Given the description of an element on the screen output the (x, y) to click on. 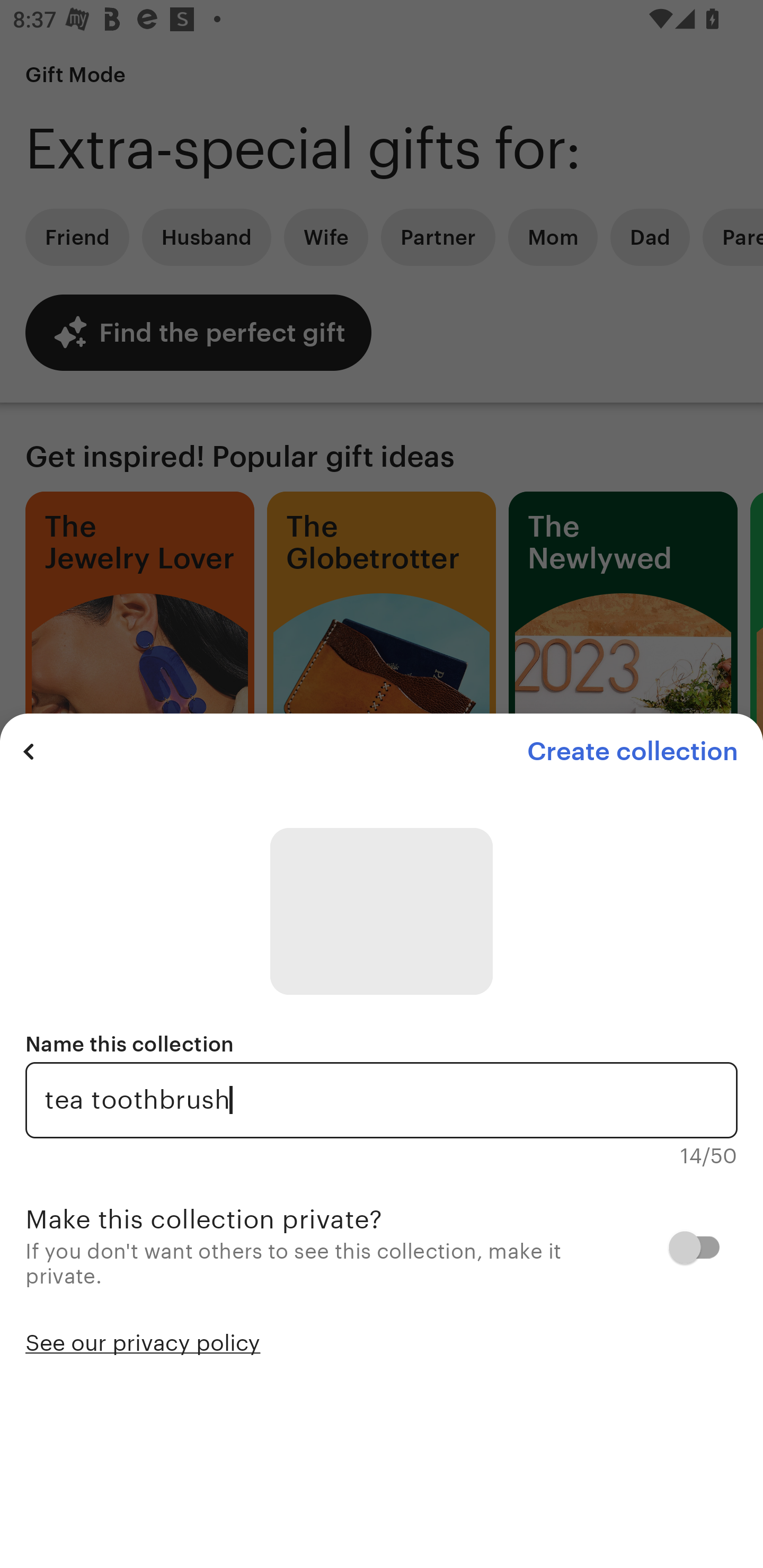
Previous (28, 751)
Create collection (632, 751)
tea toothbrush (381, 1099)
See our privacy policy (142, 1341)
